Given the description of an element on the screen output the (x, y) to click on. 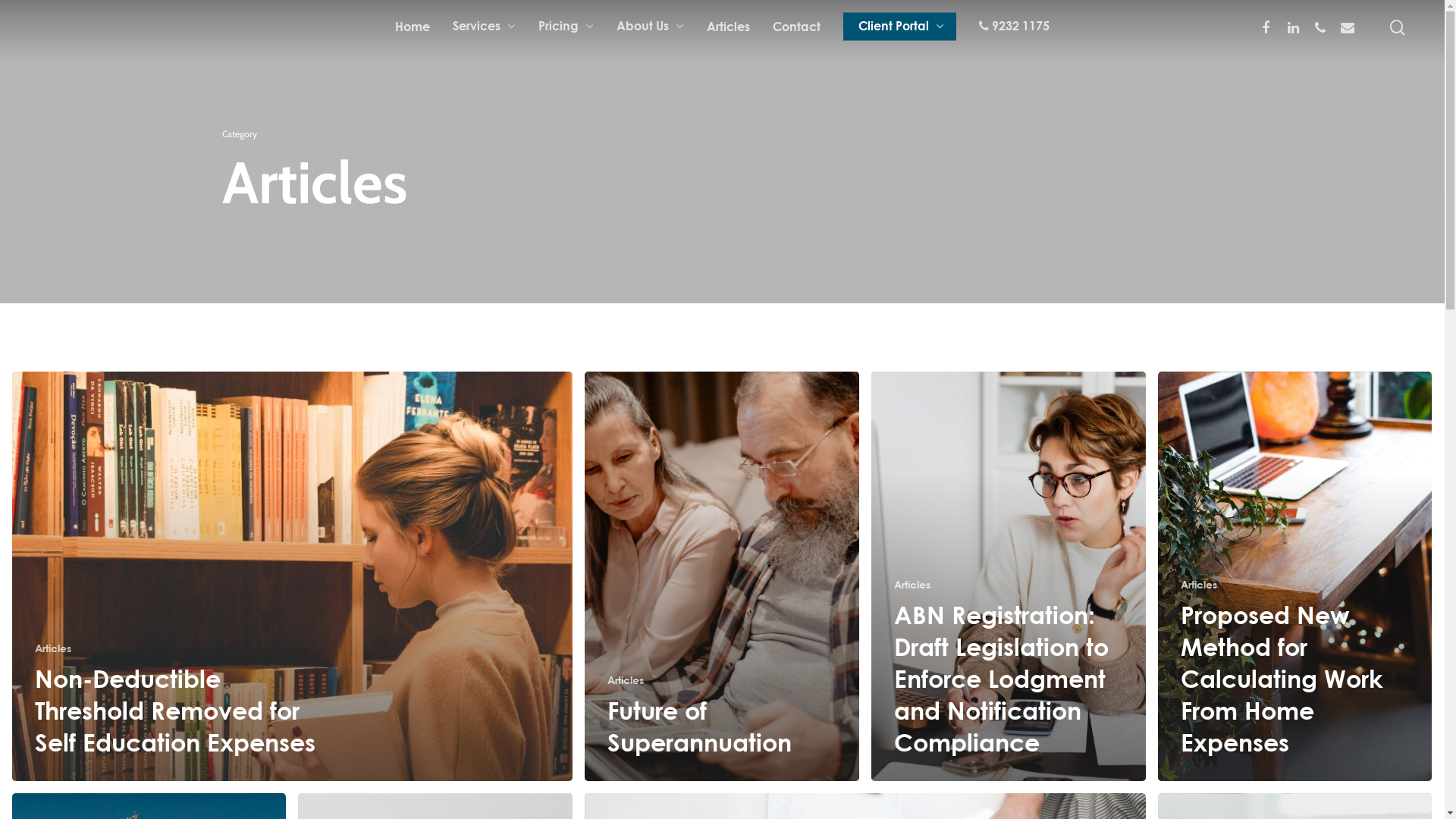
Articles Element type: text (912, 584)
Articles Element type: text (52, 647)
Articles Element type: text (1198, 584)
Non-Deductible Threshold Removed for Self Education Expenses Element type: text (174, 709)
Articles Element type: text (625, 679)
Pricing Element type: text (565, 26)
9232 1175 Element type: text (1014, 26)
Contact Element type: text (796, 26)
Home Element type: text (412, 26)
Future of Superannuation Element type: text (699, 725)
Client Portal Element type: text (899, 26)
About Us Element type: text (650, 26)
Articles Element type: text (727, 26)
Proposed New Method for Calculating Work From Home Expenses Element type: text (1281, 677)
Services Element type: text (483, 26)
